Given the description of an element on the screen output the (x, y) to click on. 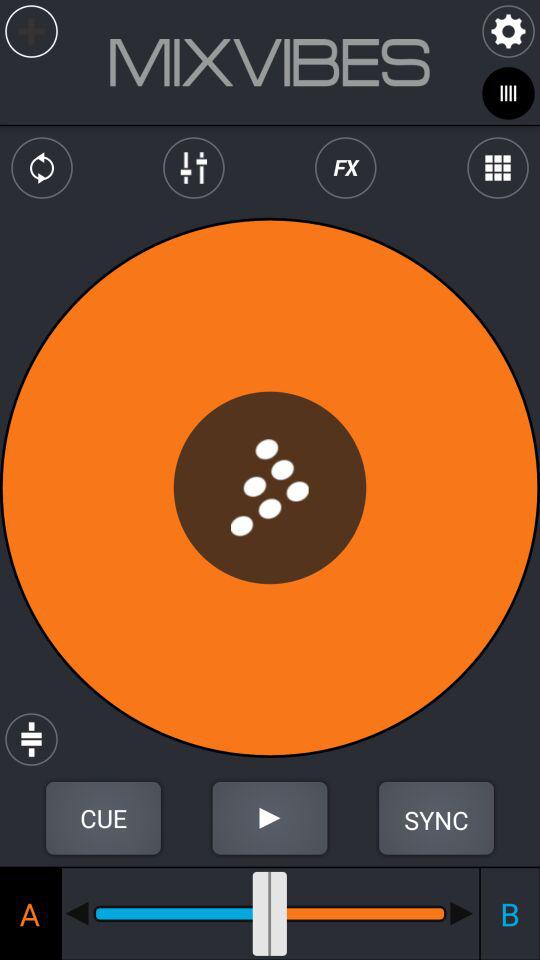
settings (508, 31)
